Given the description of an element on the screen output the (x, y) to click on. 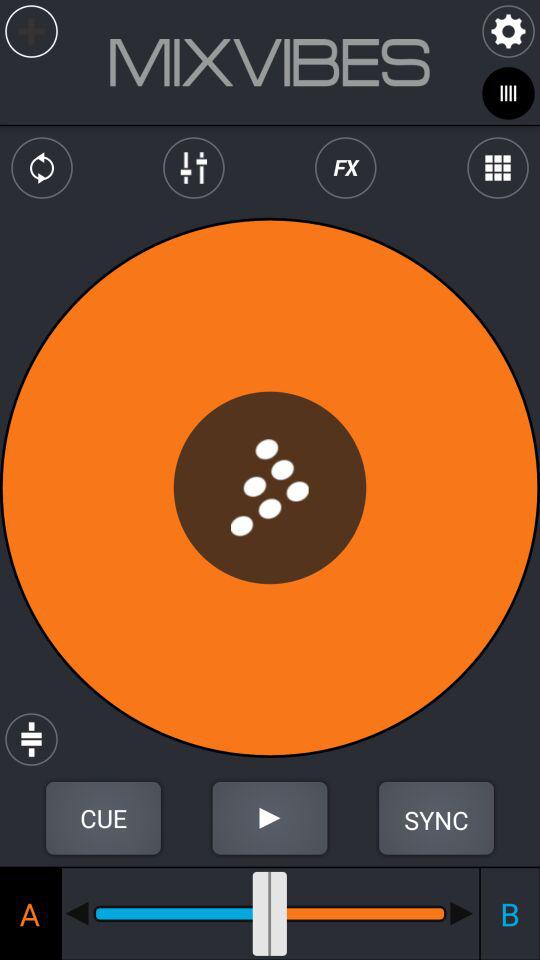
settings (508, 31)
